Given the description of an element on the screen output the (x, y) to click on. 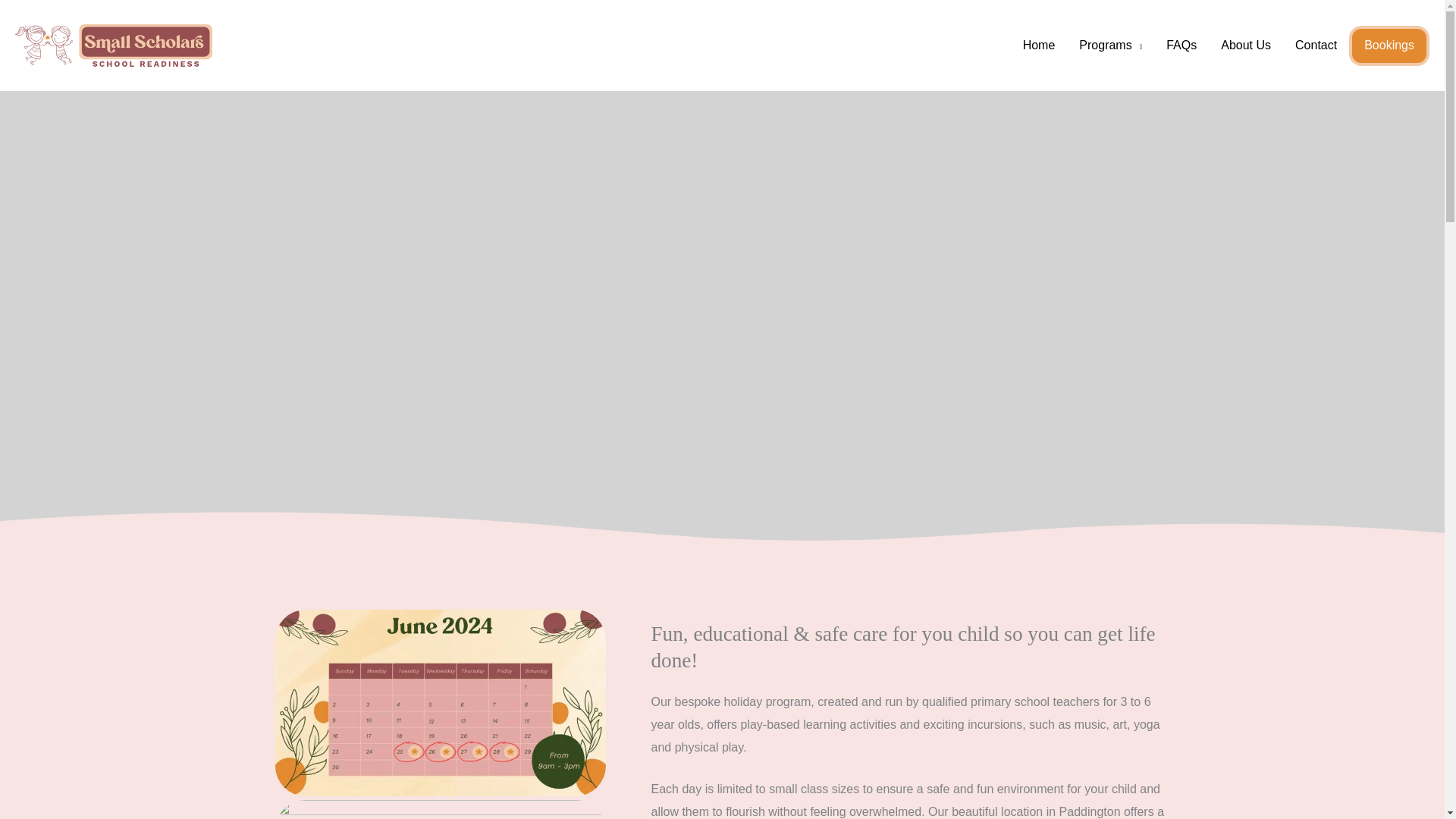
FAQs (1181, 45)
Contact (1315, 45)
About Us (1245, 45)
Bookings (1389, 45)
Home (1038, 45)
Programs (1110, 45)
